Given the description of an element on the screen output the (x, y) to click on. 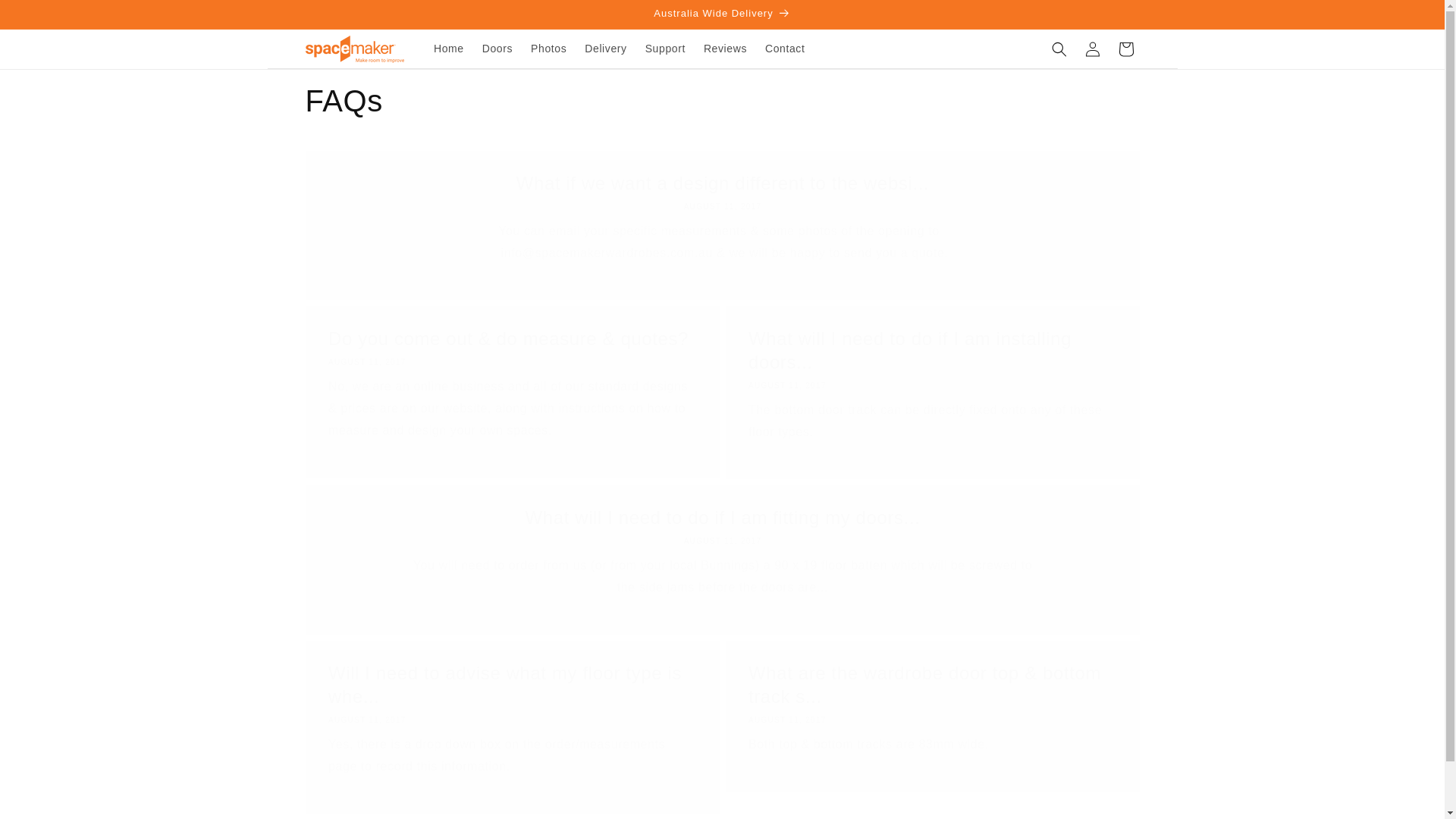
Cart (1124, 48)
Skip to content (45, 17)
What if we want a design different to the websi... (721, 182)
What will I need to do if I am installing doors... (932, 349)
Will I need to advise what my floor type is whe... (511, 684)
Contact (784, 48)
Support (665, 48)
Australia Wide Delivery (721, 14)
Doors (497, 48)
